Given the description of an element on the screen output the (x, y) to click on. 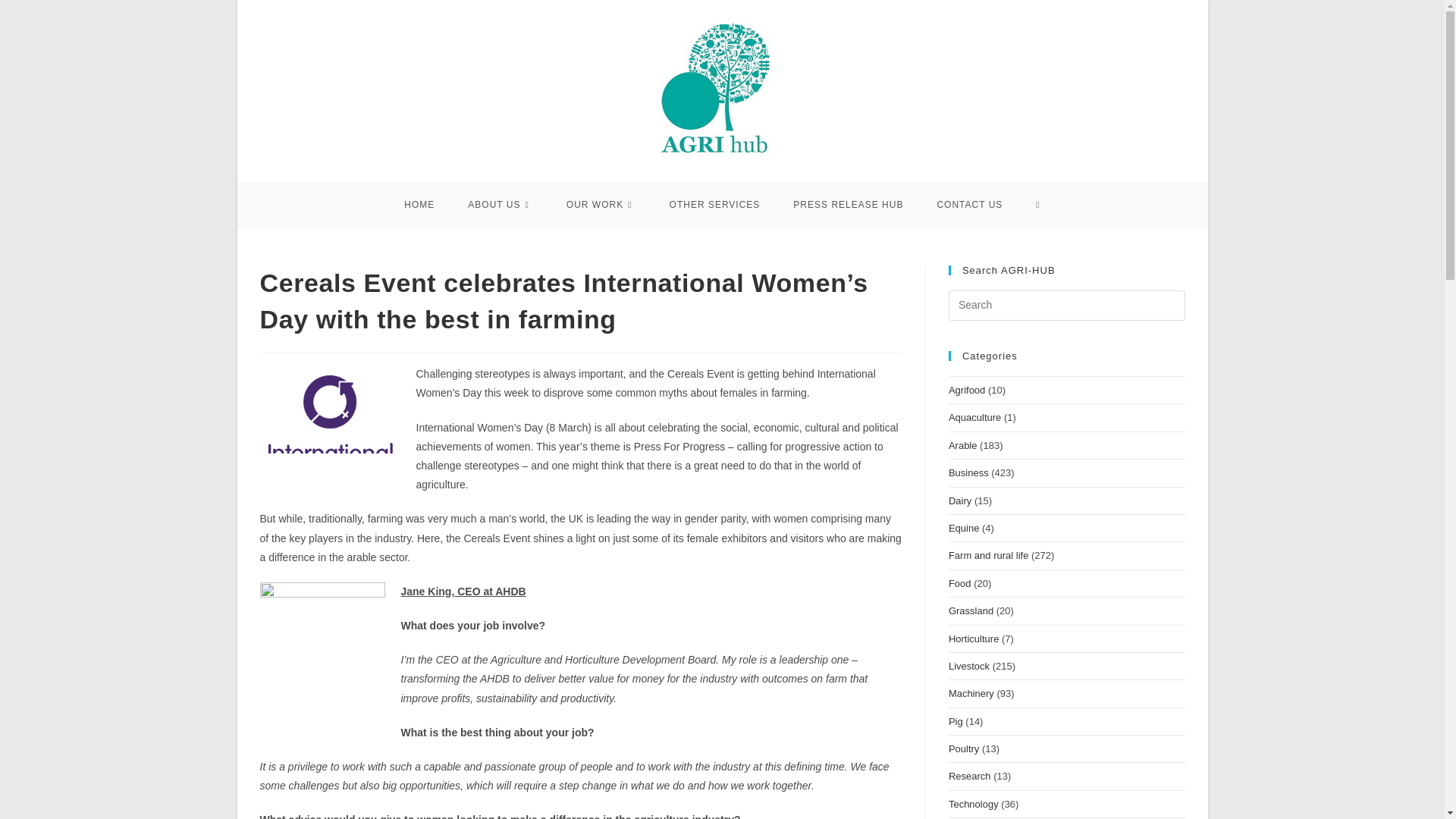
OTHER SERVICES (714, 204)
ABOUT US (500, 204)
OUR WORK (601, 204)
PRESS RELEASE HUB (848, 204)
CONTACT US (969, 204)
HOME (419, 204)
